Given the description of an element on the screen output the (x, y) to click on. 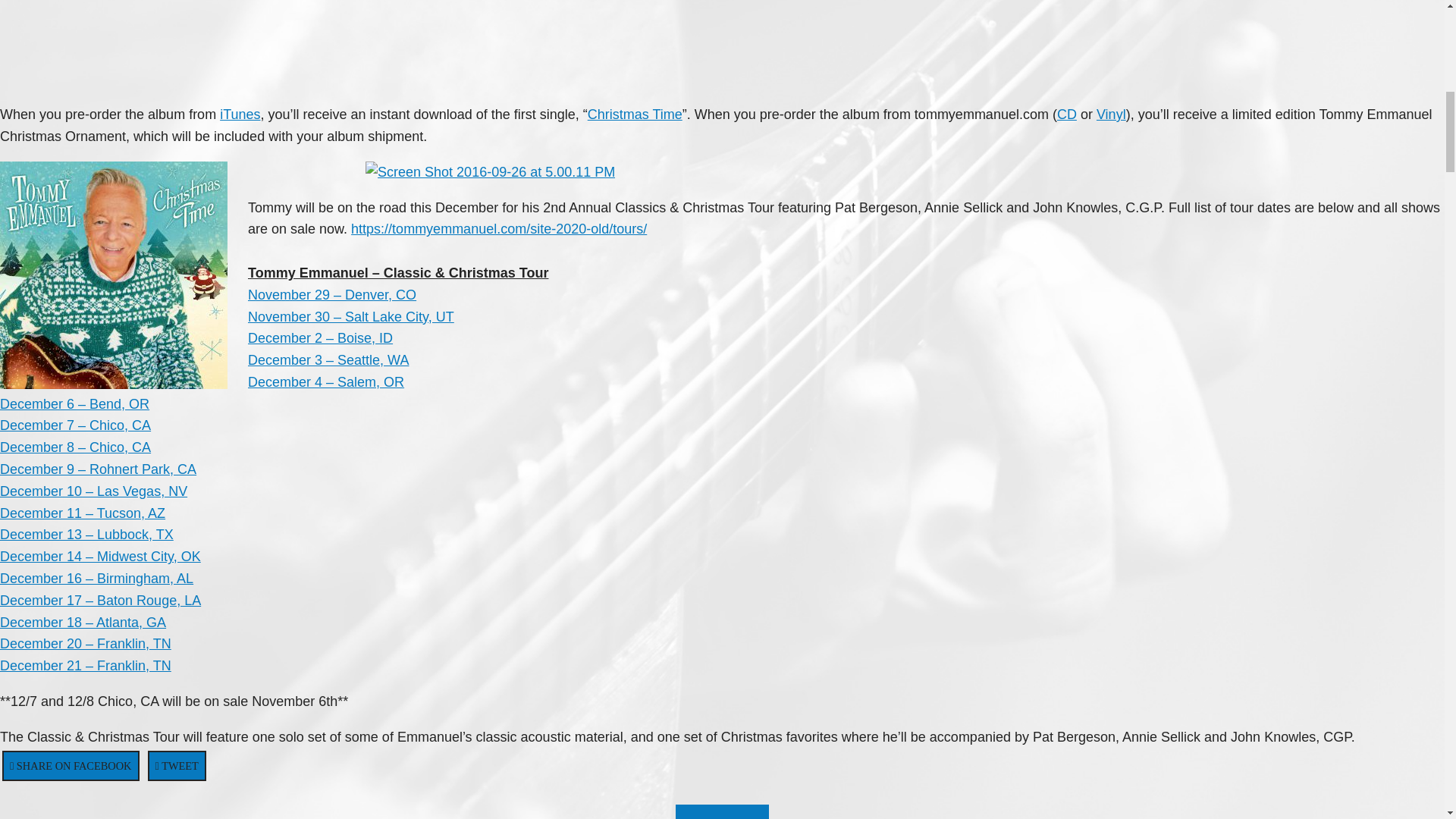
Vinyl (1110, 114)
CD (1067, 114)
Christmas Time (635, 114)
iTunes (239, 114)
